Given the description of an element on the screen output the (x, y) to click on. 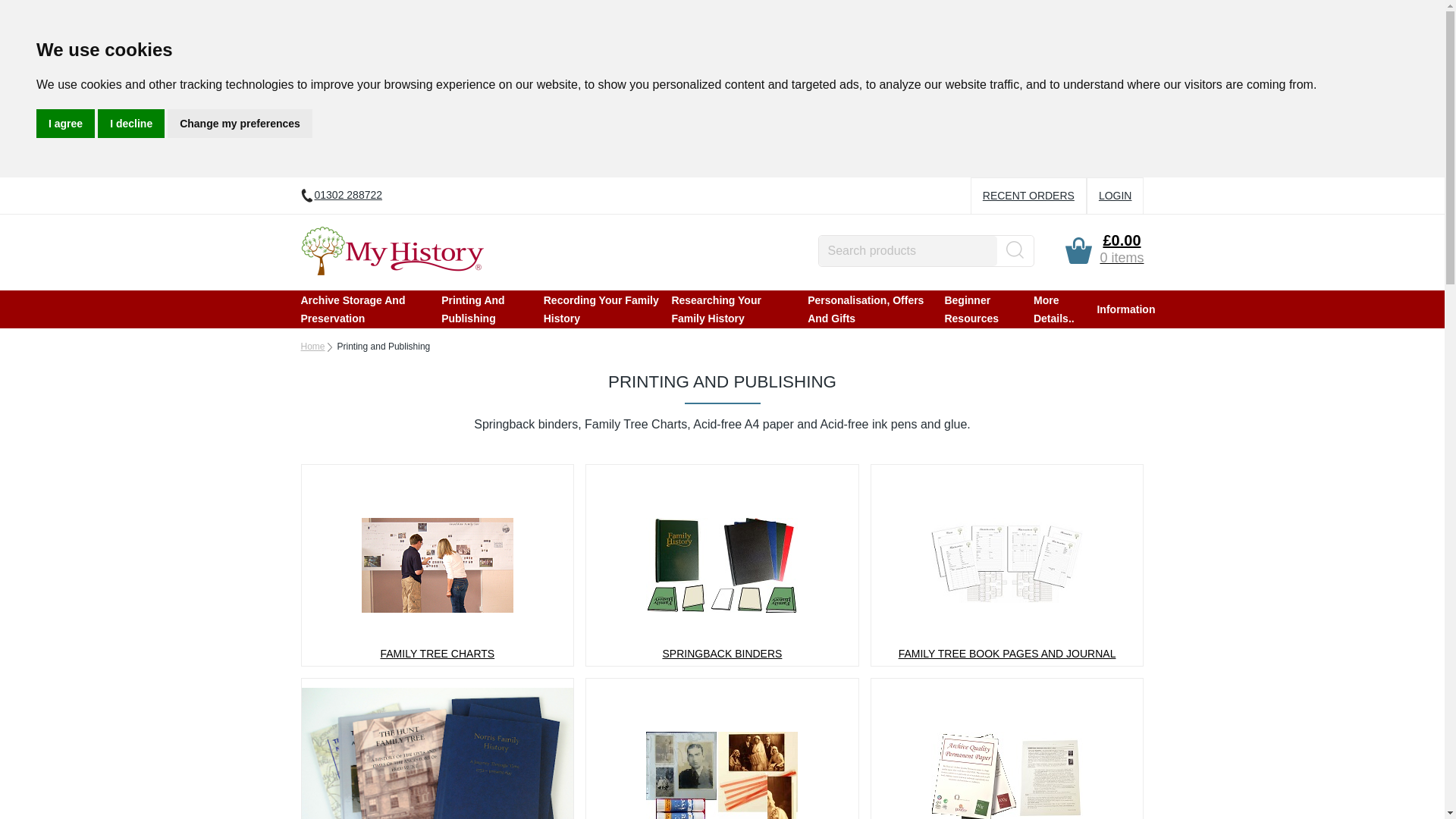
LOGIN (1115, 195)
My History My History Catalogue (391, 250)
01302 288722 (340, 194)
I decline (130, 123)
Archive Storage And Preservation (364, 309)
I agree (65, 123)
Change my preferences (240, 123)
RECENT ORDERS (1028, 195)
